Given the description of an element on the screen output the (x, y) to click on. 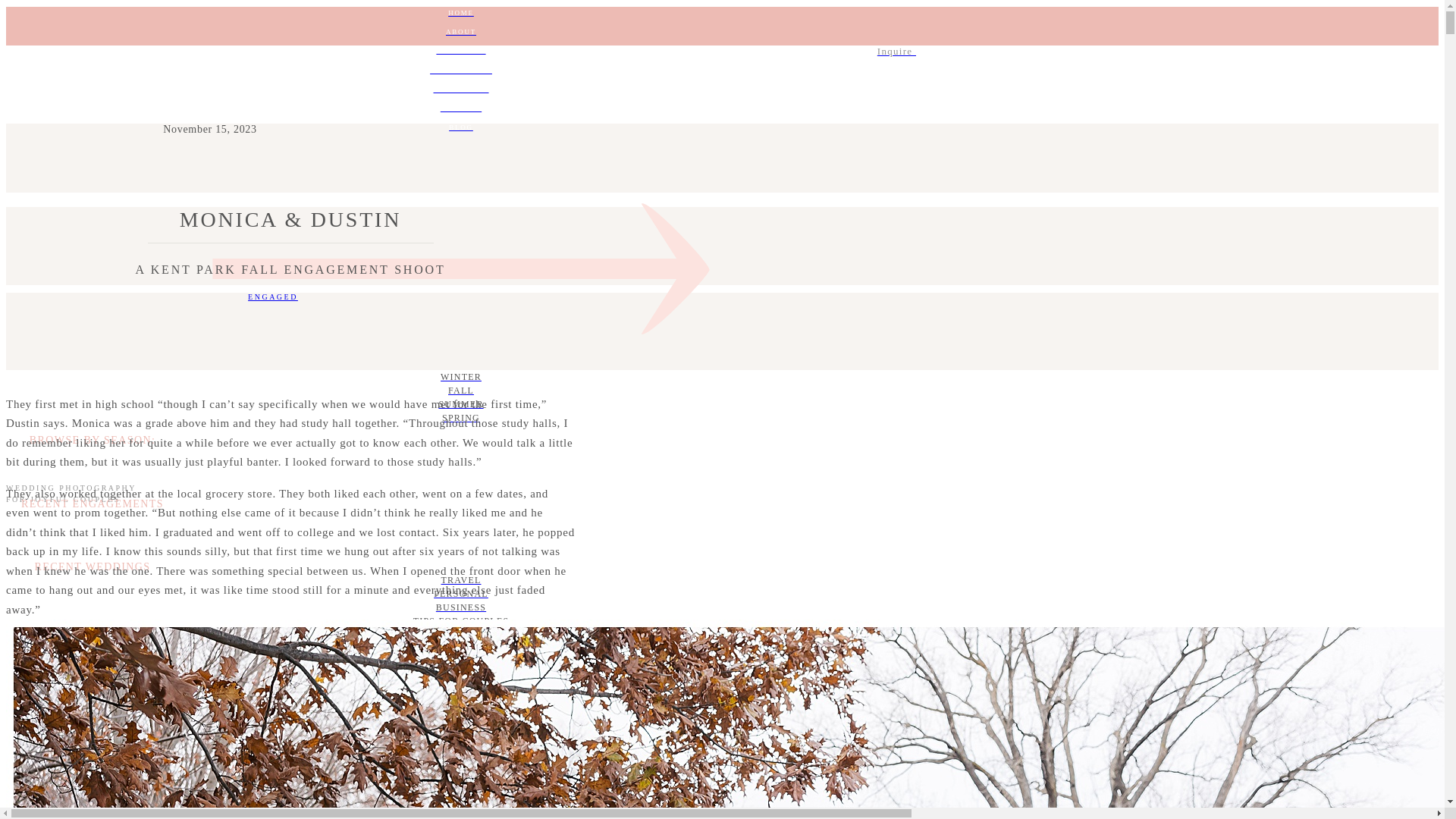
BUSINESS (460, 607)
INFORMATION (460, 70)
Inquire  (460, 51)
CONTACT (460, 108)
ABOUT (460, 31)
BLOG (460, 127)
PERSONAL (460, 593)
ENGAGED (272, 296)
SENIORS (460, 648)
FALL (460, 390)
TRAVEL (460, 580)
WINTER (460, 377)
TIPS FOR COUPLES (460, 621)
